Given the description of an element on the screen output the (x, y) to click on. 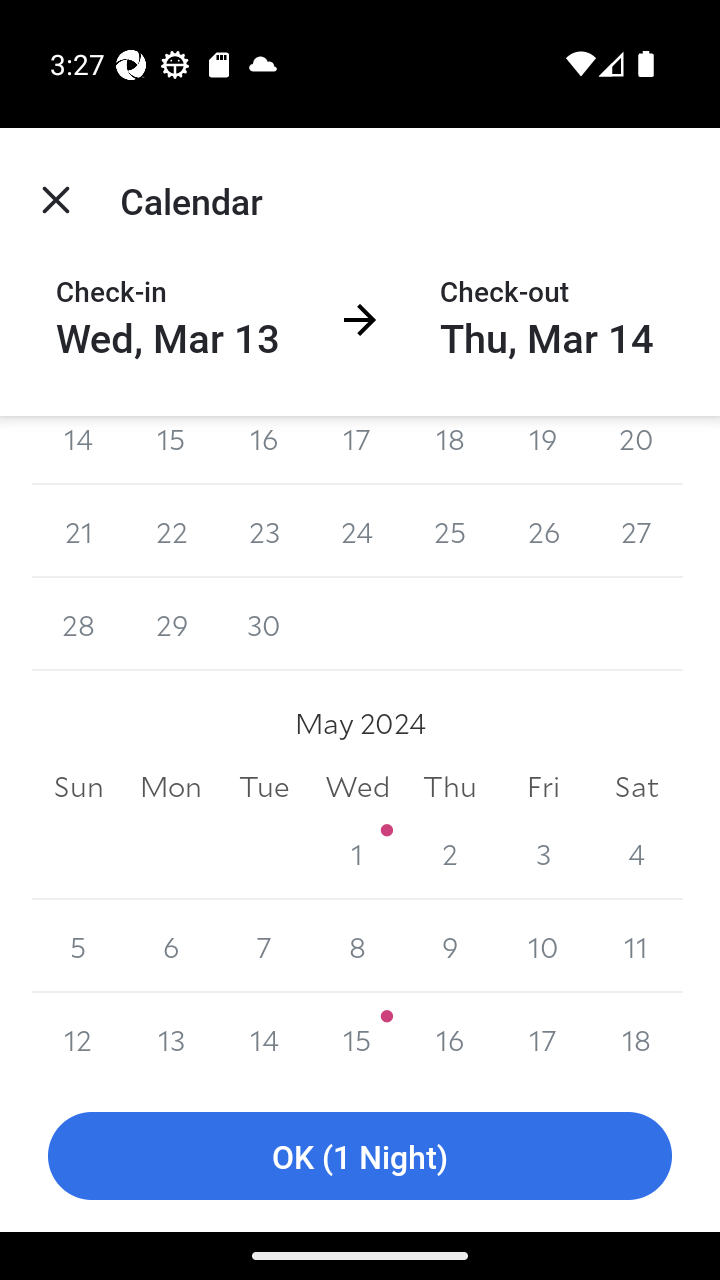
14 14 April 2024 (78, 450)
15 15 April 2024 (171, 450)
16 16 April 2024 (264, 450)
17 17 April 2024 (357, 450)
18 18 April 2024 (449, 450)
19 19 April 2024 (542, 450)
20 20 April 2024 (636, 450)
21 21 April 2024 (78, 531)
22 22 April 2024 (171, 531)
23 23 April 2024 (264, 531)
24 24 April 2024 (357, 531)
25 25 April 2024 (449, 531)
26 26 April 2024 (542, 531)
27 27 April 2024 (636, 531)
28 28 April 2024 (78, 624)
29 29 April 2024 (171, 624)
30 30 April 2024 (264, 624)
Sun (78, 785)
Mon (171, 785)
Tue (264, 785)
Wed (357, 785)
Thu (449, 785)
Fri (542, 785)
Sat (636, 785)
1 1 May 2024 (357, 852)
2 2 May 2024 (449, 852)
3 3 May 2024 (542, 852)
4 4 May 2024 (636, 852)
5 5 May 2024 (78, 946)
6 6 May 2024 (171, 946)
7 7 May 2024 (264, 946)
8 8 May 2024 (357, 946)
9 9 May 2024 (449, 946)
10 10 May 2024 (542, 946)
11 11 May 2024 (636, 946)
12 12 May 2024 (78, 1036)
13 13 May 2024 (171, 1036)
14 14 May 2024 (264, 1036)
15 15 May 2024 (357, 1036)
16 16 May 2024 (449, 1036)
17 17 May 2024 (542, 1036)
18 18 May 2024 (636, 1036)
OK (1 Night) (359, 1156)
